Given the description of an element on the screen output the (x, y) to click on. 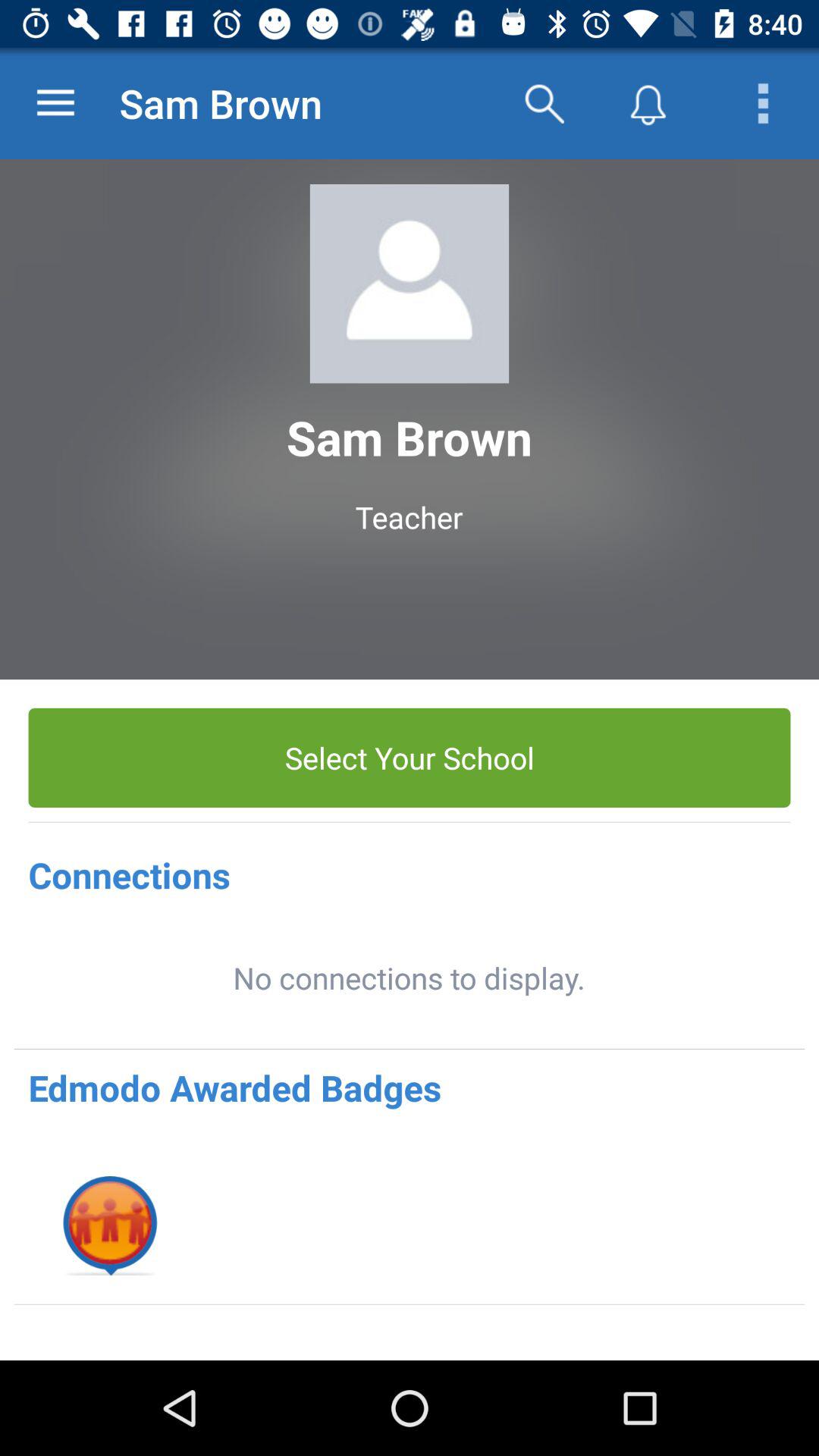
click on the search icon (544, 103)
